Given the description of an element on the screen output the (x, y) to click on. 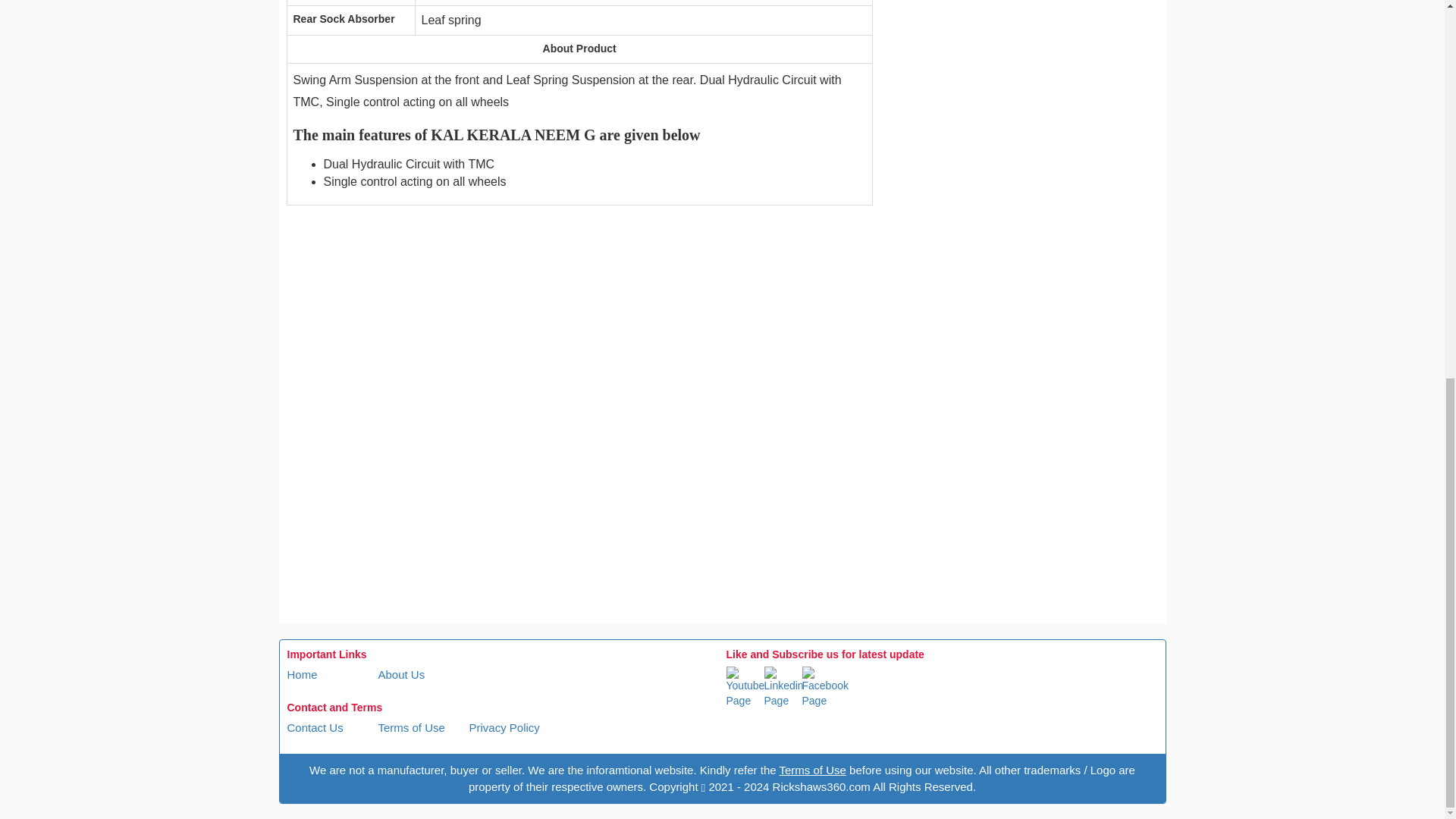
Terms of Use (410, 727)
Terms of Use (811, 769)
Contact Us (314, 727)
Home (301, 674)
About Us (401, 674)
Privacy Policy (503, 727)
